Given the description of an element on the screen output the (x, y) to click on. 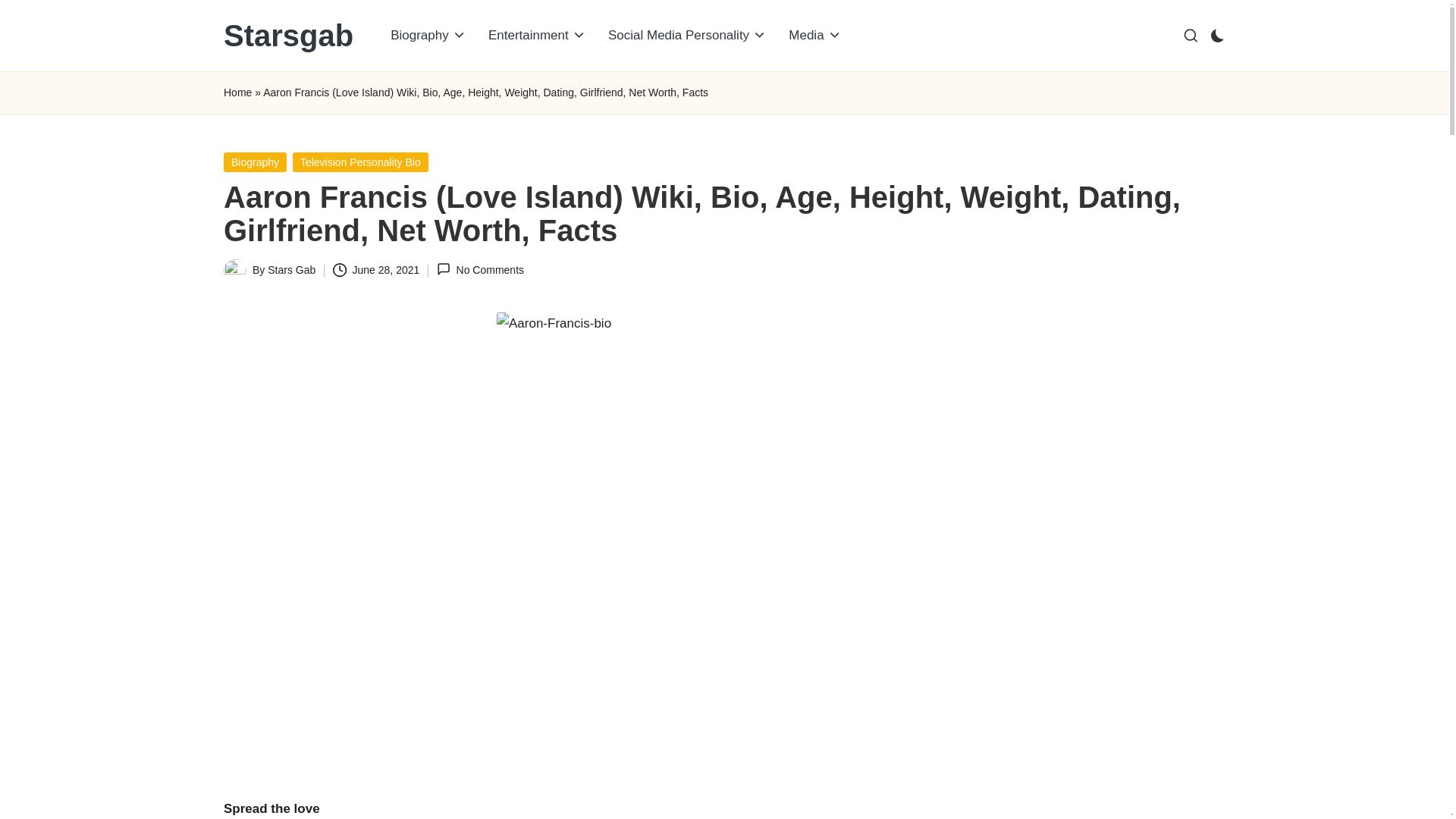
Social Media Personality (686, 35)
Biography (428, 35)
Starsgab (288, 35)
View all posts by Stars Gab (291, 269)
Entertainment (536, 35)
